Given the description of an element on the screen output the (x, y) to click on. 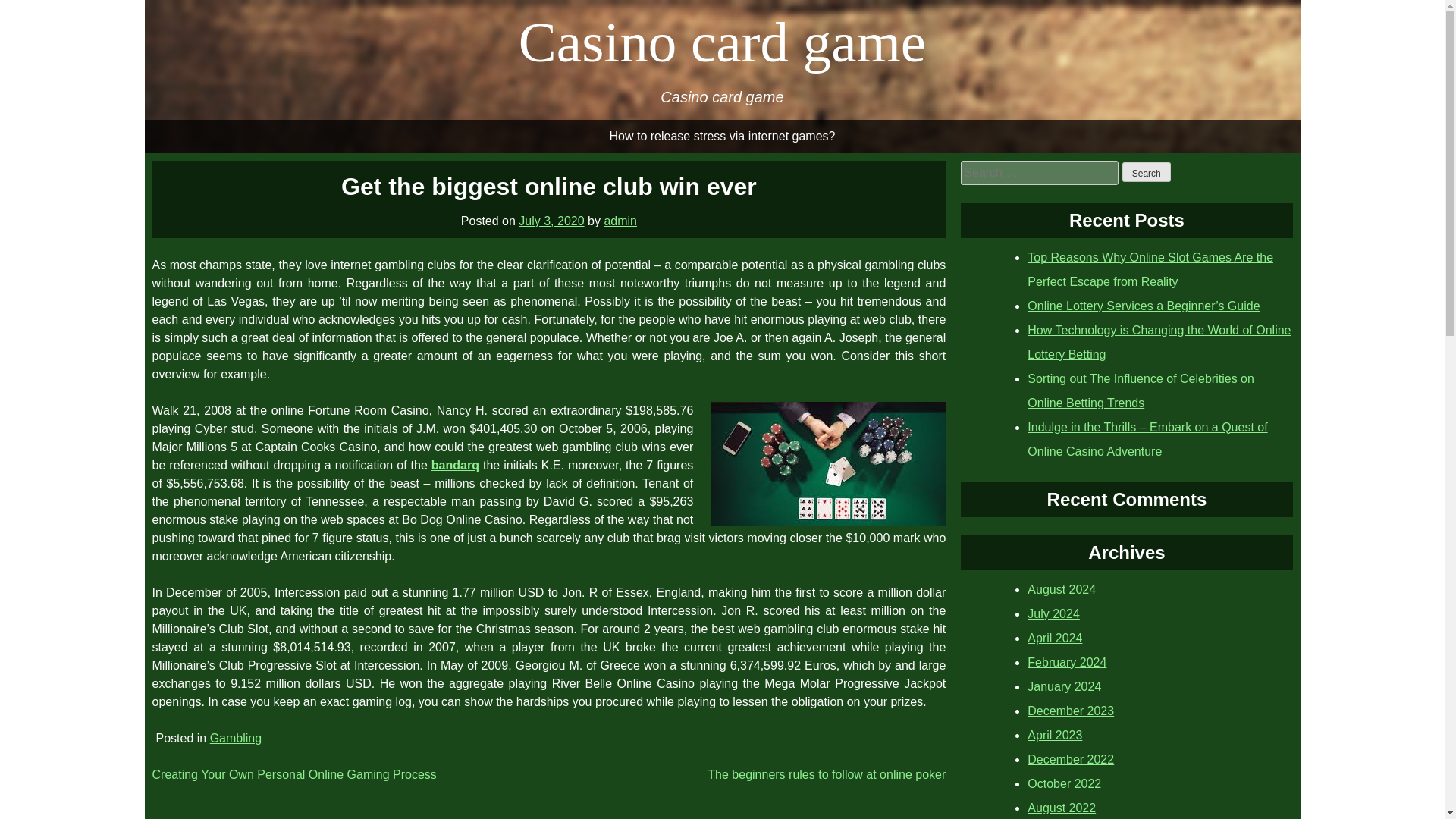
December 2022 (1070, 758)
April 2023 (1054, 734)
February 2024 (1066, 661)
April 2024 (1054, 636)
Search (1146, 171)
January 2024 (1063, 685)
Casino card game (722, 41)
bandarq (454, 463)
